Given the description of an element on the screen output the (x, y) to click on. 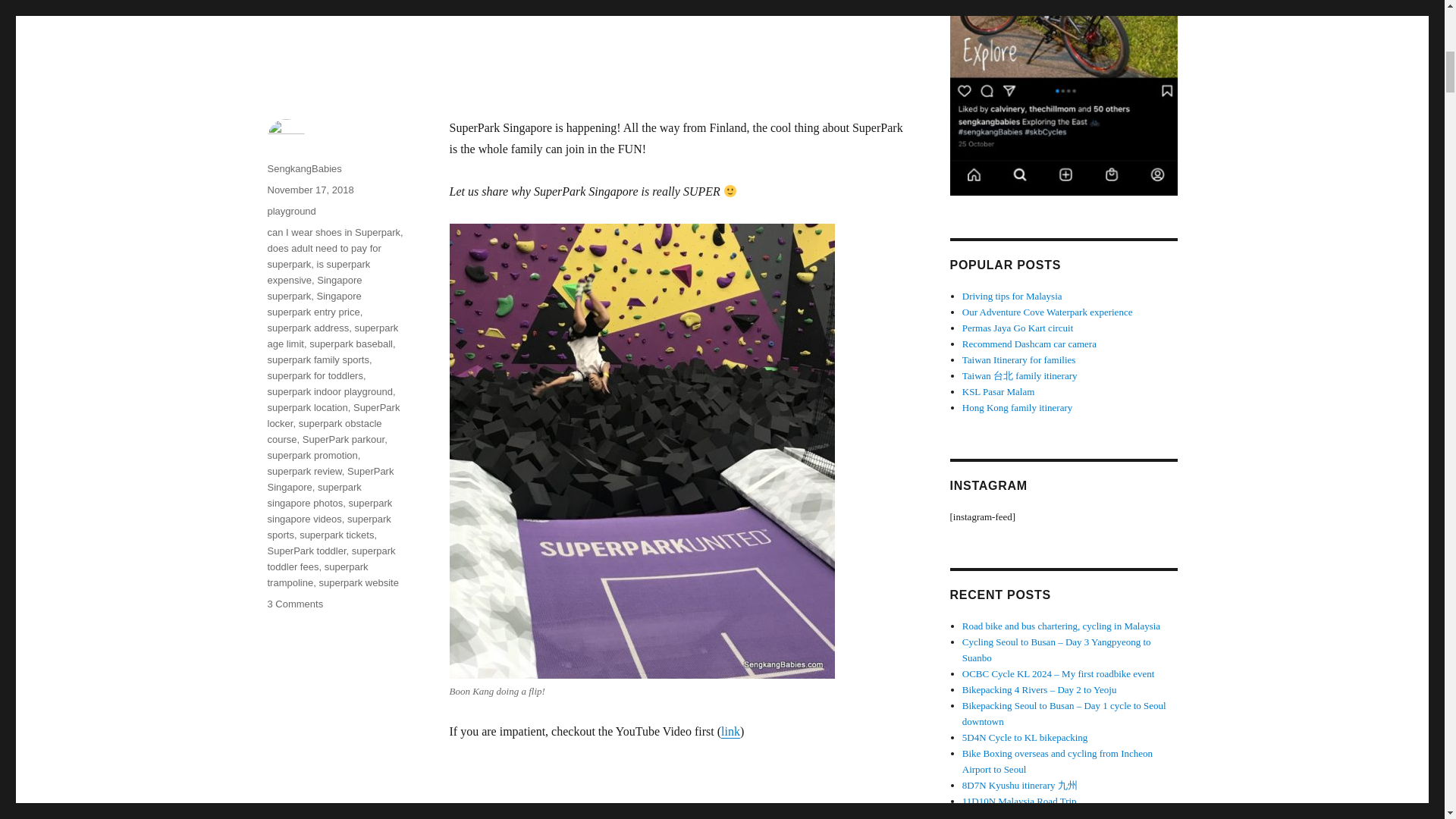
link (729, 730)
does adult need to pay for superpark (323, 256)
superpark location (306, 407)
superpark address (307, 327)
superpark baseball (350, 343)
superpark obstacle course (323, 431)
is superpark expensive (317, 271)
superpark for toddlers (314, 375)
Singapore superpark (313, 288)
SuperPark parkour (343, 439)
superpark age limit (331, 335)
Our Adventure Cove Waterpark experience (1047, 311)
KSL Pasar Malam (998, 391)
Permas Jaya Go Kart circuit (1018, 327)
SuperPark locker (332, 415)
